Given the description of an element on the screen output the (x, y) to click on. 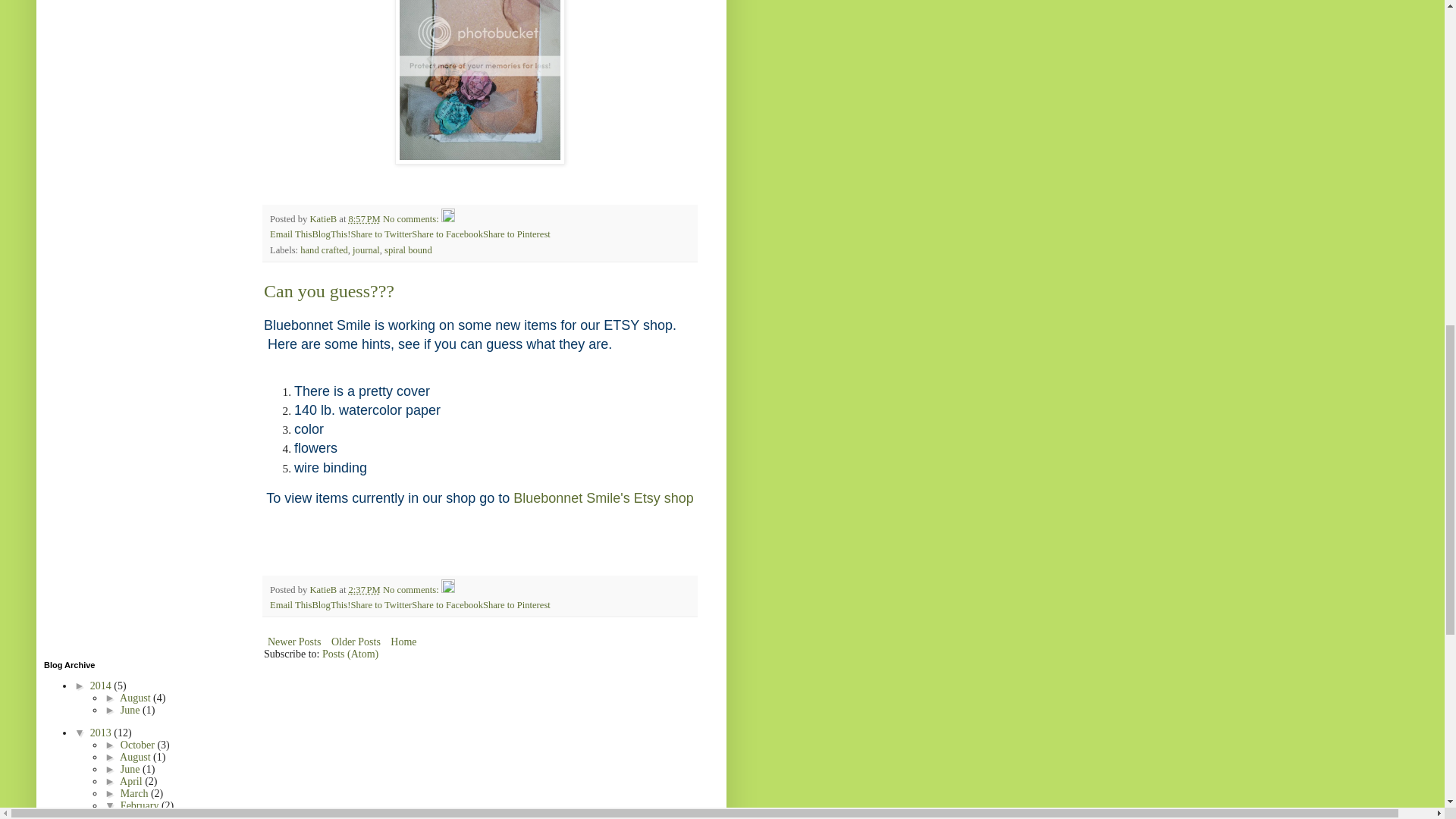
BlogThis! (330, 604)
Share to Pinterest (516, 234)
journal (366, 249)
Bluebonnet Smile's Etsy shop (603, 498)
Share to Twitter (381, 604)
KatieB (323, 589)
Share to Twitter (381, 234)
Can you guess??? (328, 291)
author profile (323, 589)
No comments: (411, 589)
author profile (323, 218)
spiral bound (408, 249)
Share to Facebook (447, 234)
BlogThis! (330, 604)
